Given the description of an element on the screen output the (x, y) to click on. 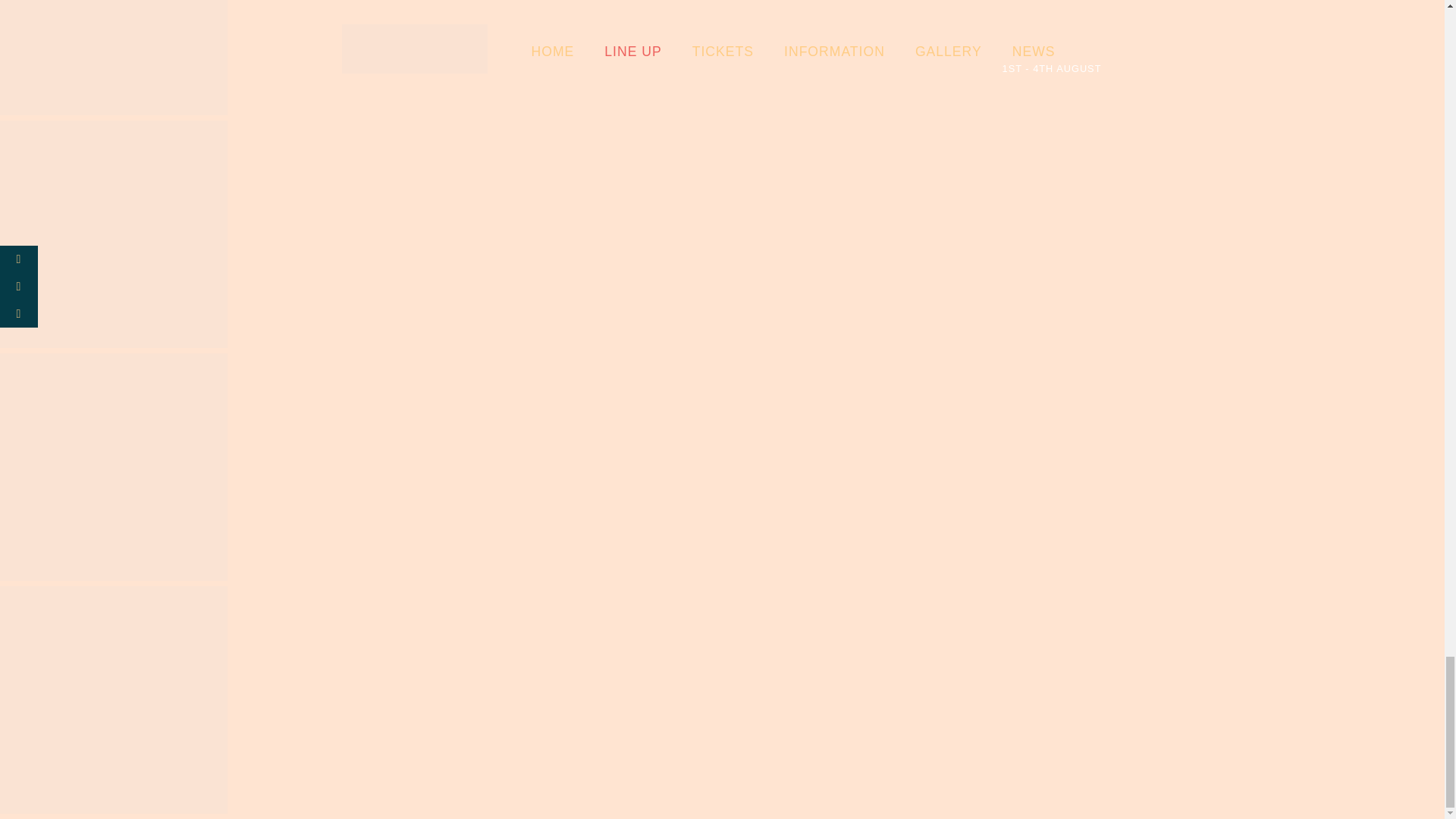
Sound Level Events (113, 469)
Bowan Ales (113, 236)
